Given the description of an element on the screen output the (x, y) to click on. 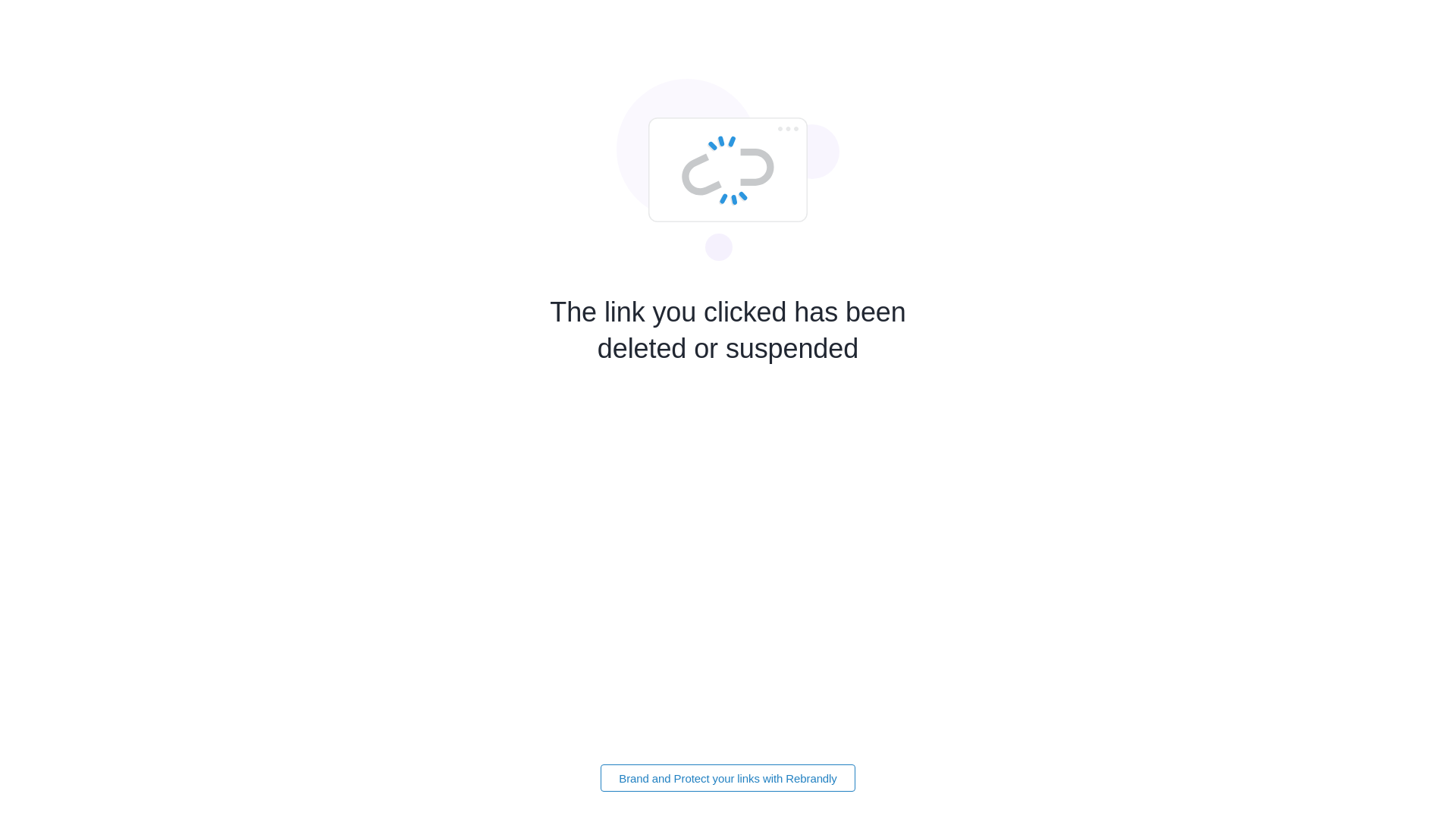
Brand and Protect your links with Rebrandly Element type: text (727, 777)
